Given the description of an element on the screen output the (x, y) to click on. 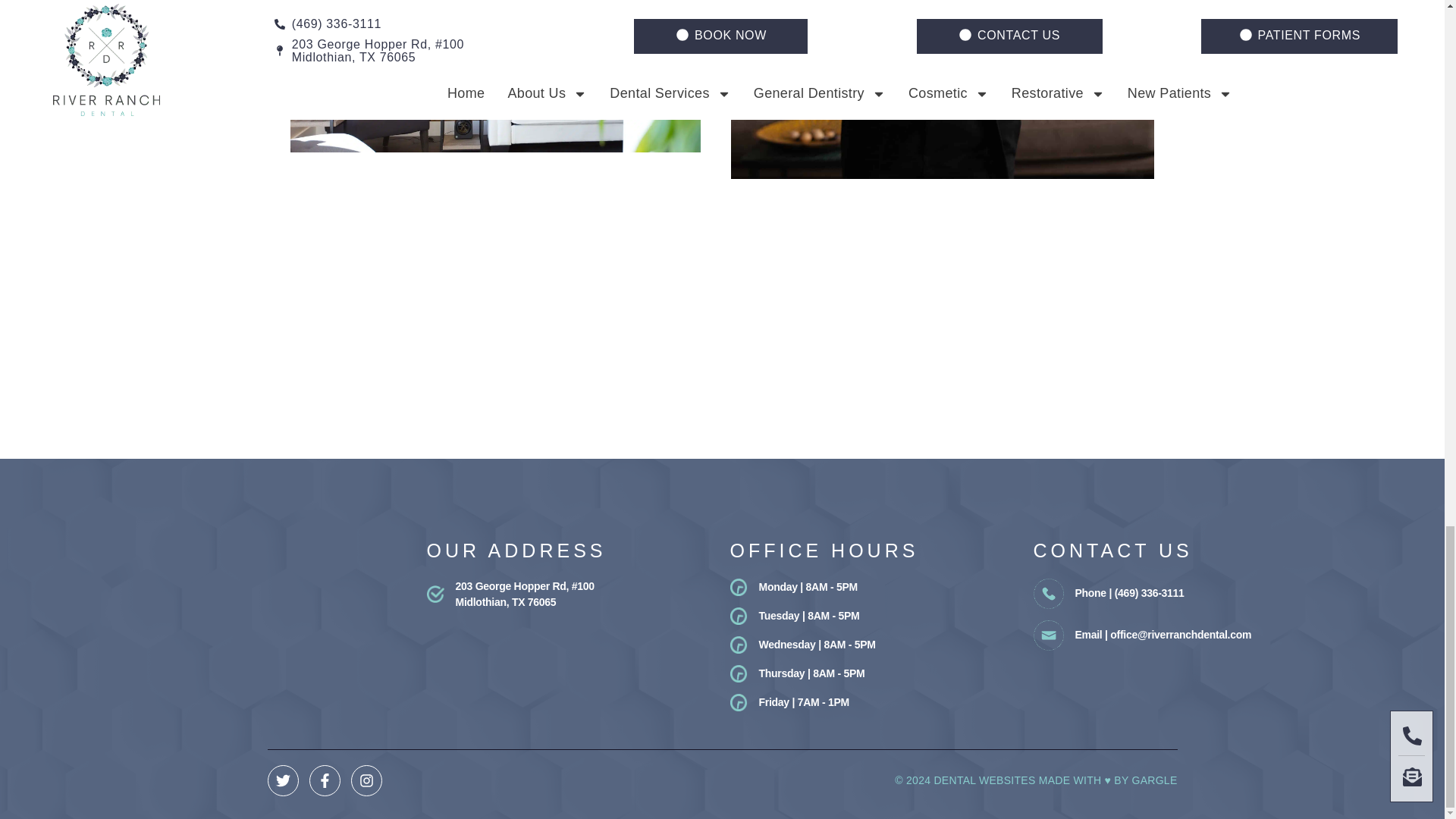
river ranch dental midlothian (721, 428)
